Given the description of an element on the screen output the (x, y) to click on. 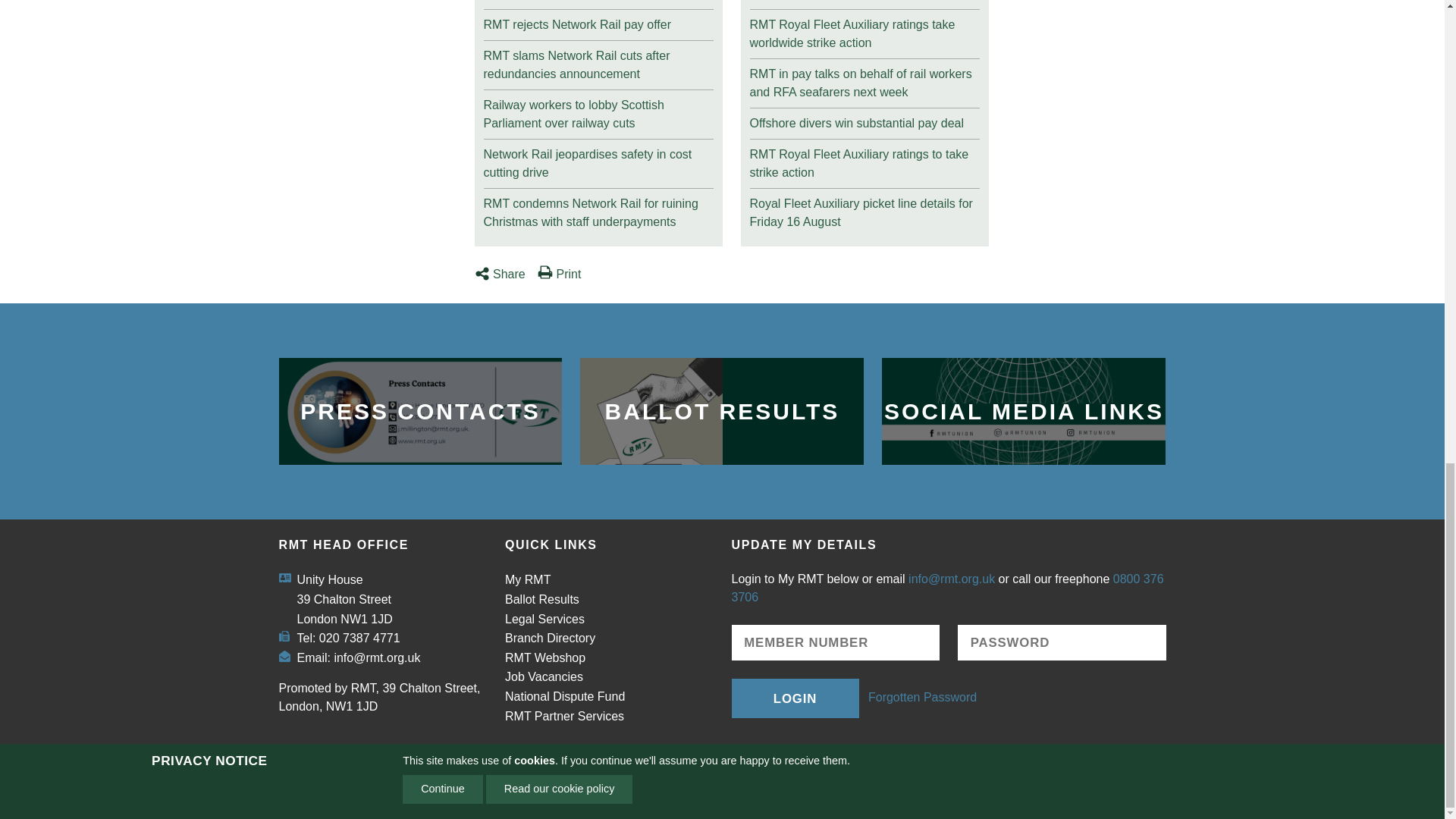
news (598, 209)
news (598, 21)
news (598, 110)
RMT rejects Network Rail pay offer (598, 21)
news (863, 30)
news (598, 159)
news (598, 61)
